Given the description of an element on the screen output the (x, y) to click on. 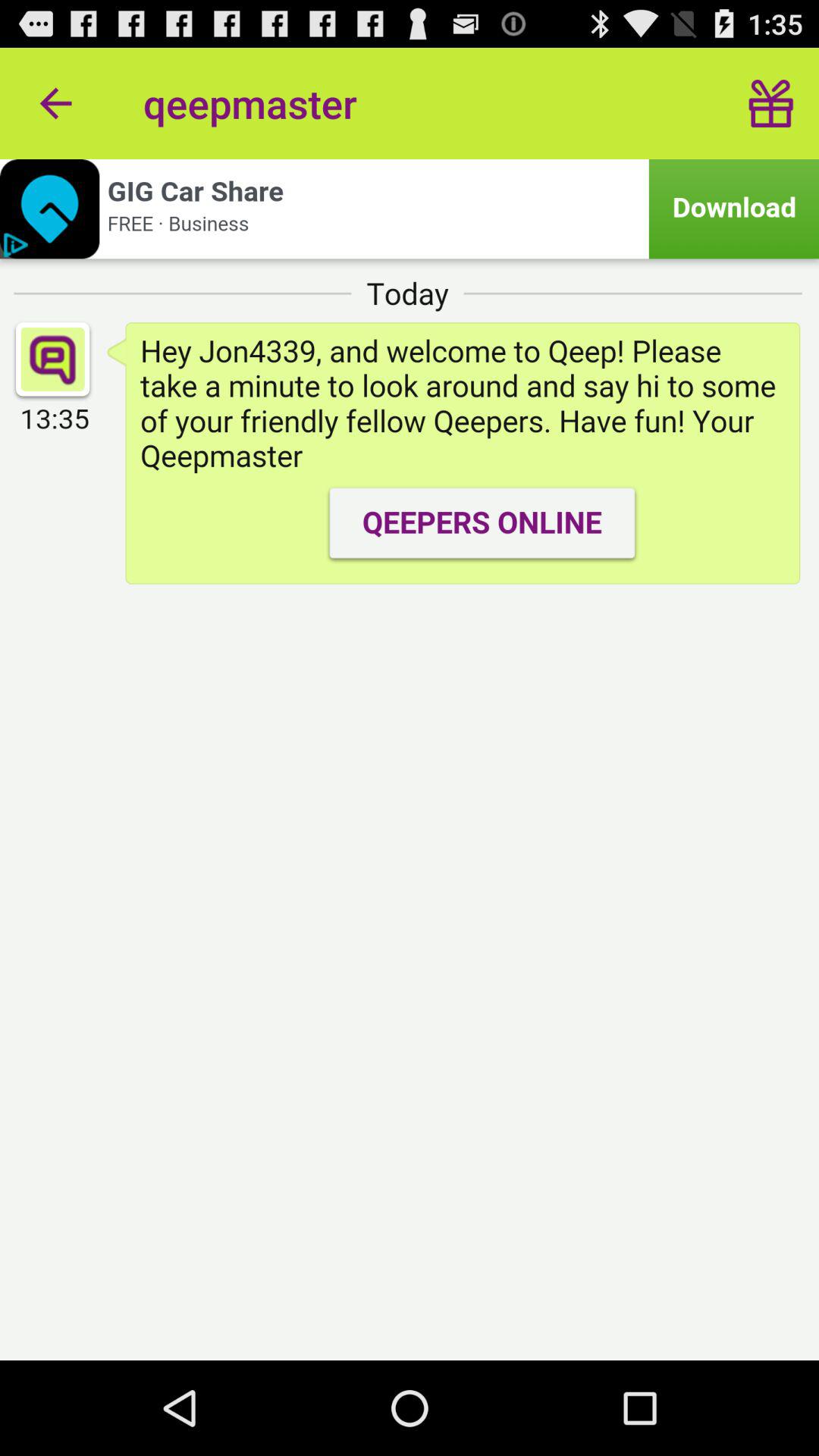
launch advertisement link (409, 208)
